Given the description of an element on the screen output the (x, y) to click on. 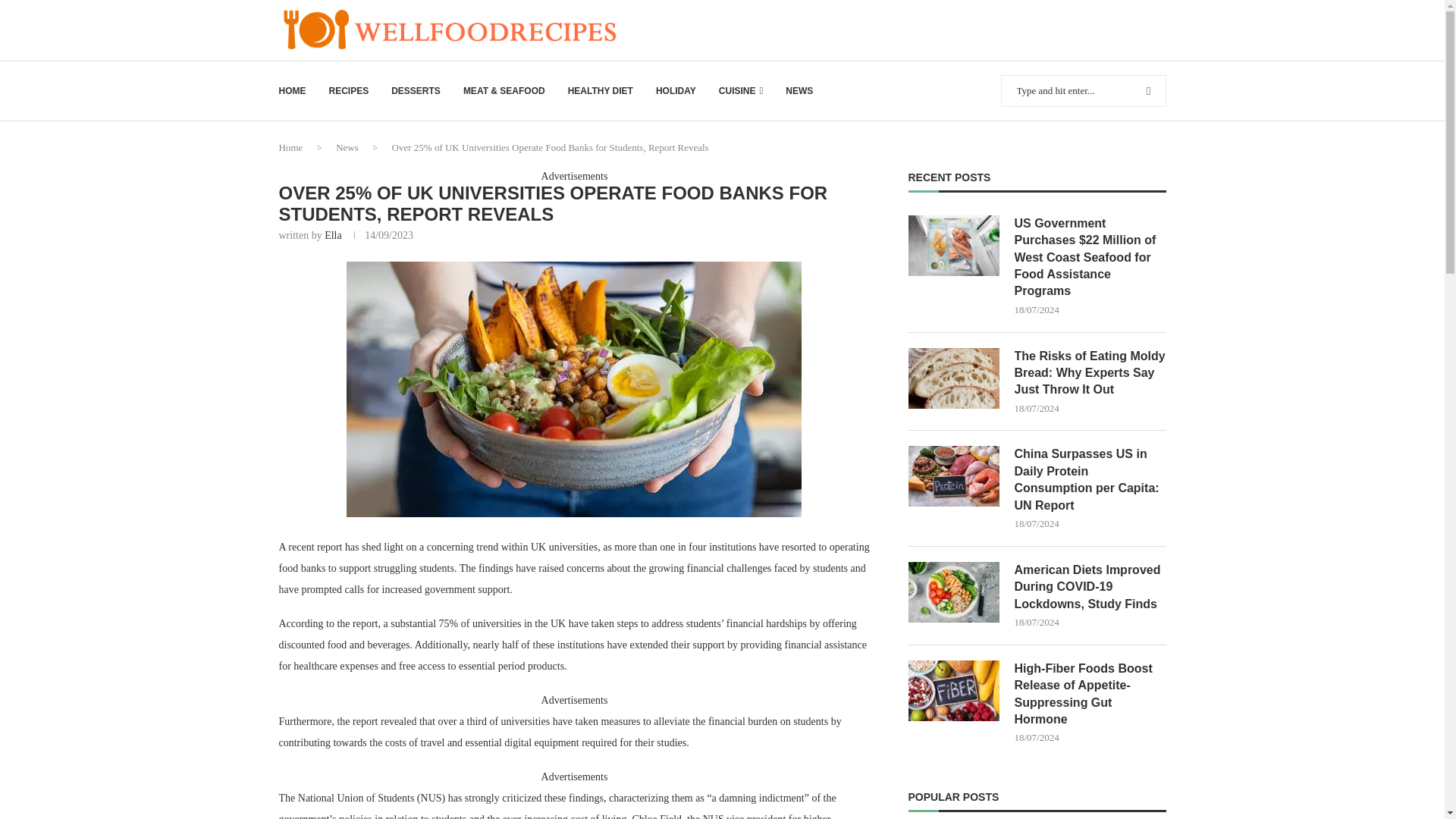
HEALTHY DIET (600, 90)
HOLIDAY (675, 90)
CUISINE (740, 90)
DESSERTS (416, 90)
RECIPES (349, 90)
food-10 (574, 388)
